Given the description of an element on the screen output the (x, y) to click on. 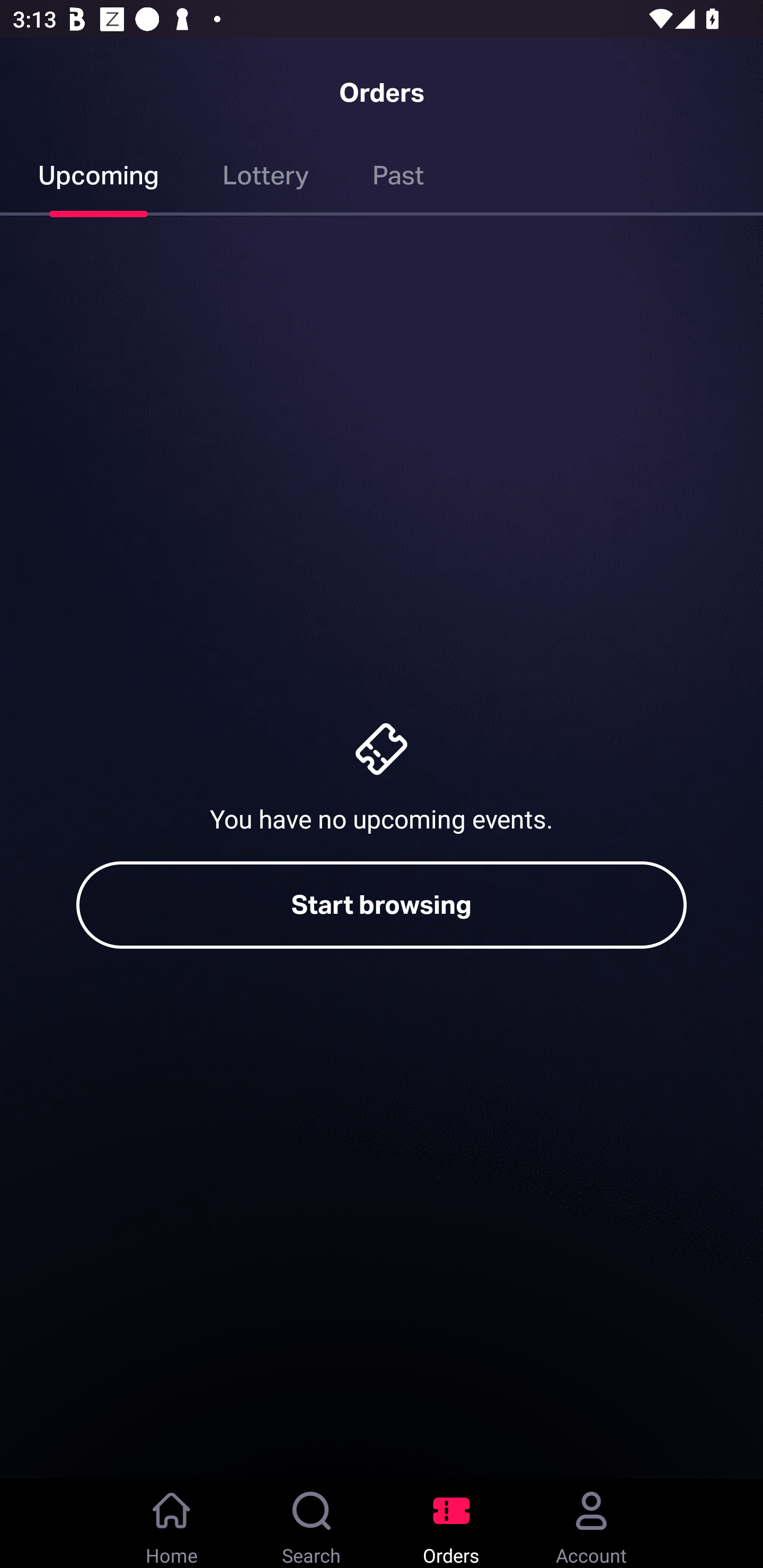
Lottery (265, 179)
Past (398, 179)
Start browsing (381, 904)
Home (171, 1523)
Search (311, 1523)
Account (591, 1523)
